Given the description of an element on the screen output the (x, y) to click on. 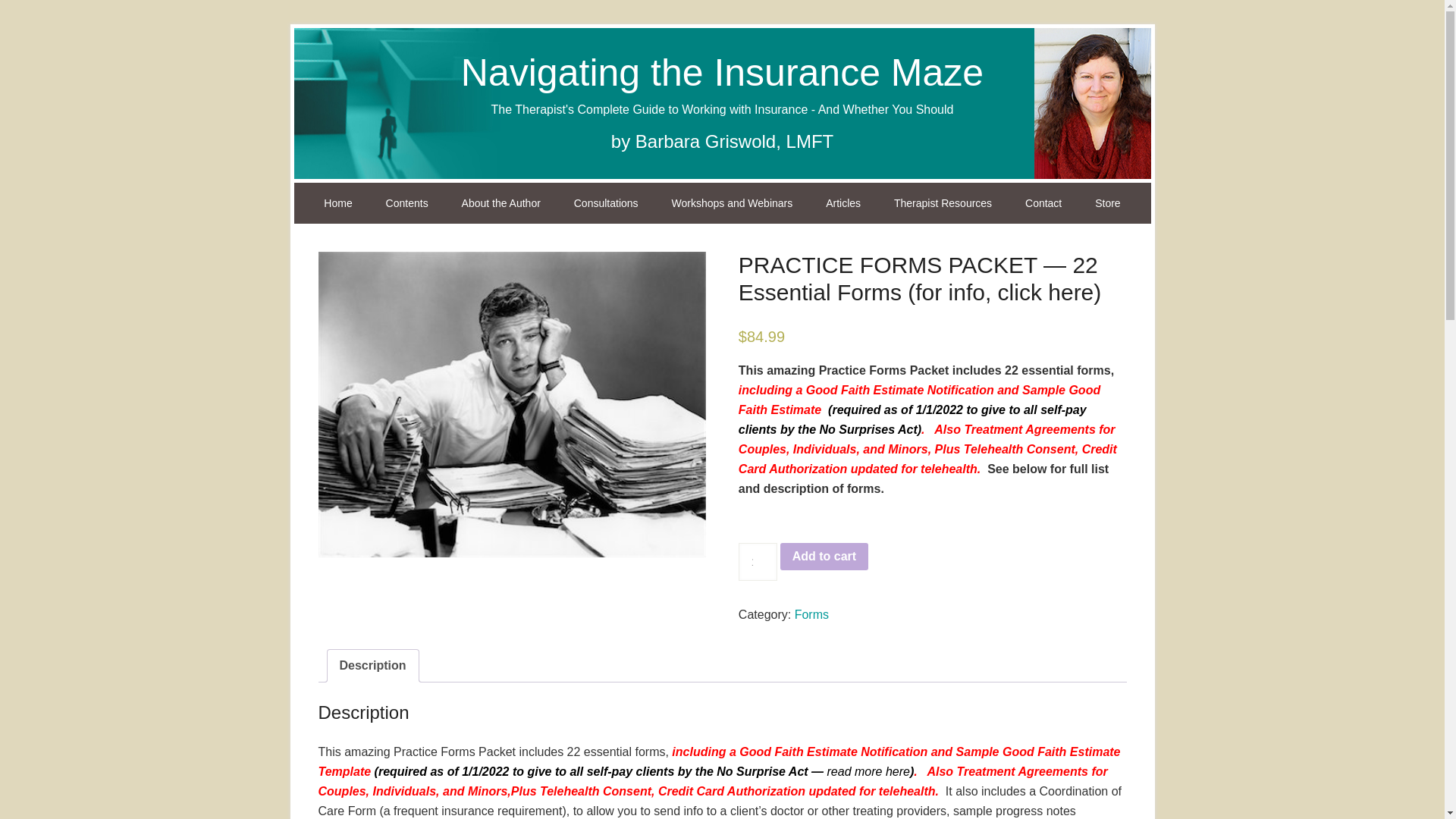
Add to cart (823, 556)
read more here (868, 771)
1 (757, 561)
Description (372, 665)
Articles (843, 202)
Forms (811, 614)
Consultations (606, 202)
Contact (1043, 202)
Store (1107, 202)
846-02795767 (512, 404)
